Given the description of an element on the screen output the (x, y) to click on. 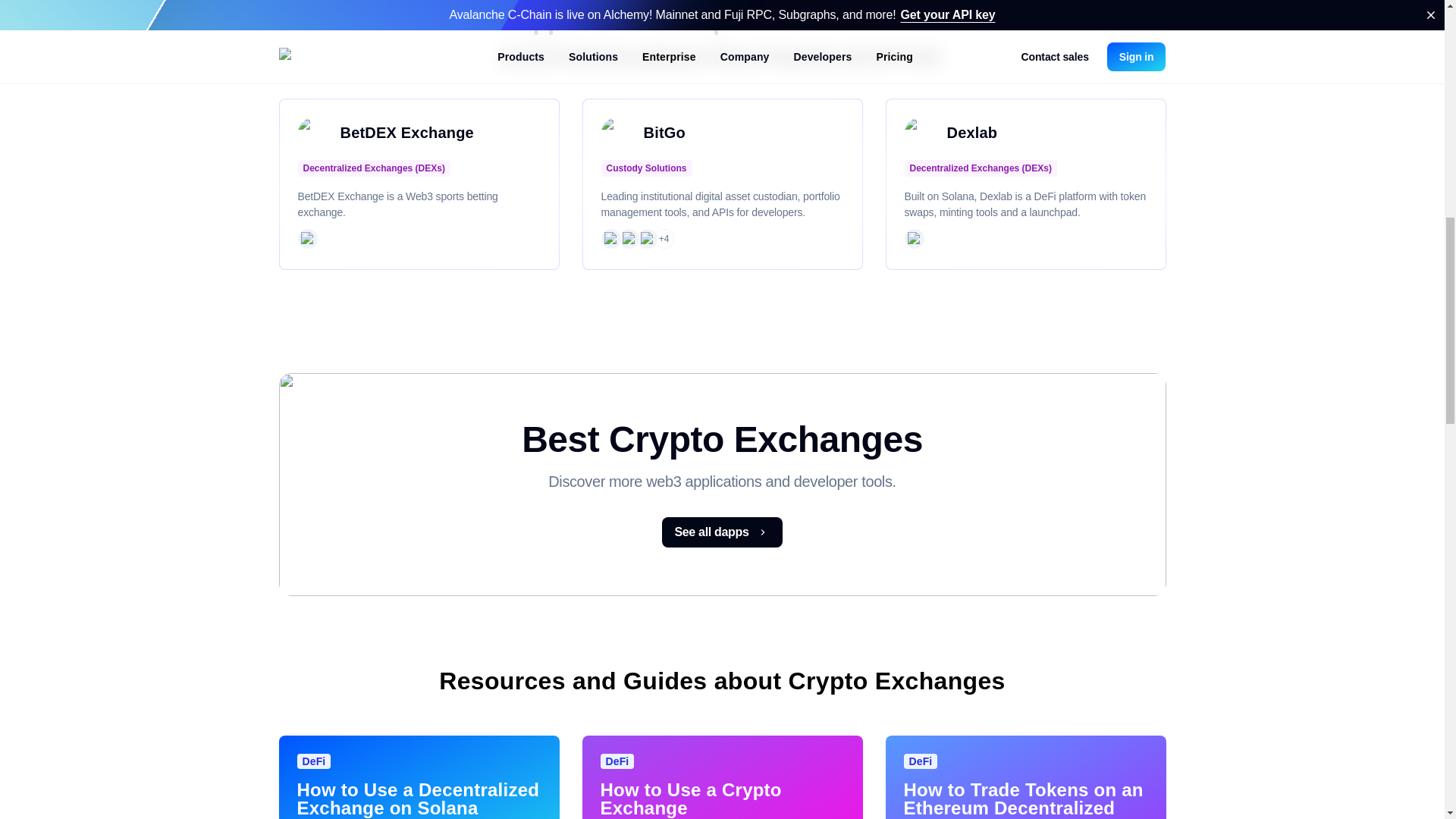
Solana (306, 238)
Solana (913, 238)
Arbitrum (646, 238)
Solana (627, 238)
Ethereum (610, 238)
